Given the description of an element on the screen output the (x, y) to click on. 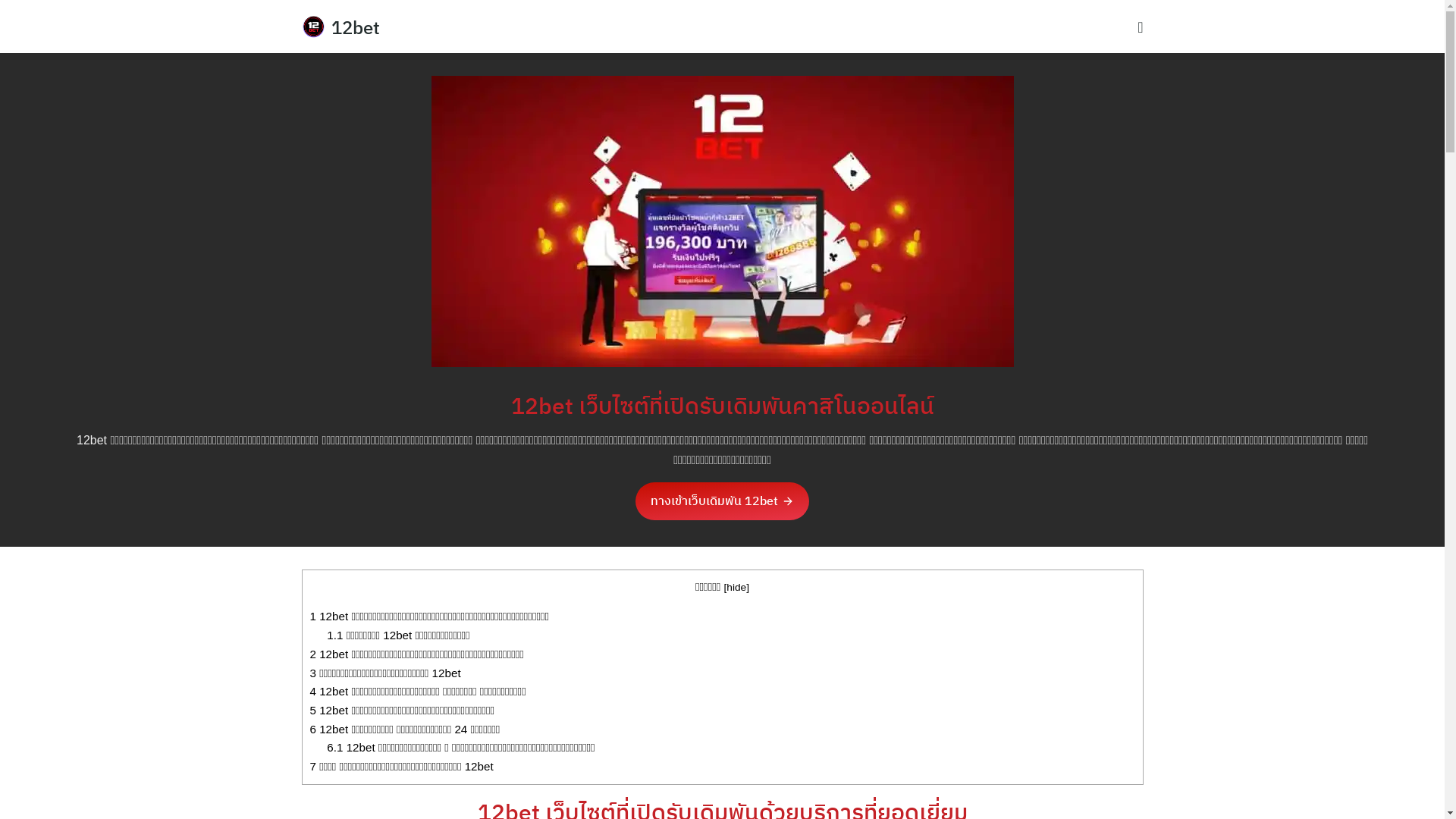
Skip to content Element type: text (0, 0)
12bet Element type: text (355, 27)
hide Element type: text (736, 587)
